Given the description of an element on the screen output the (x, y) to click on. 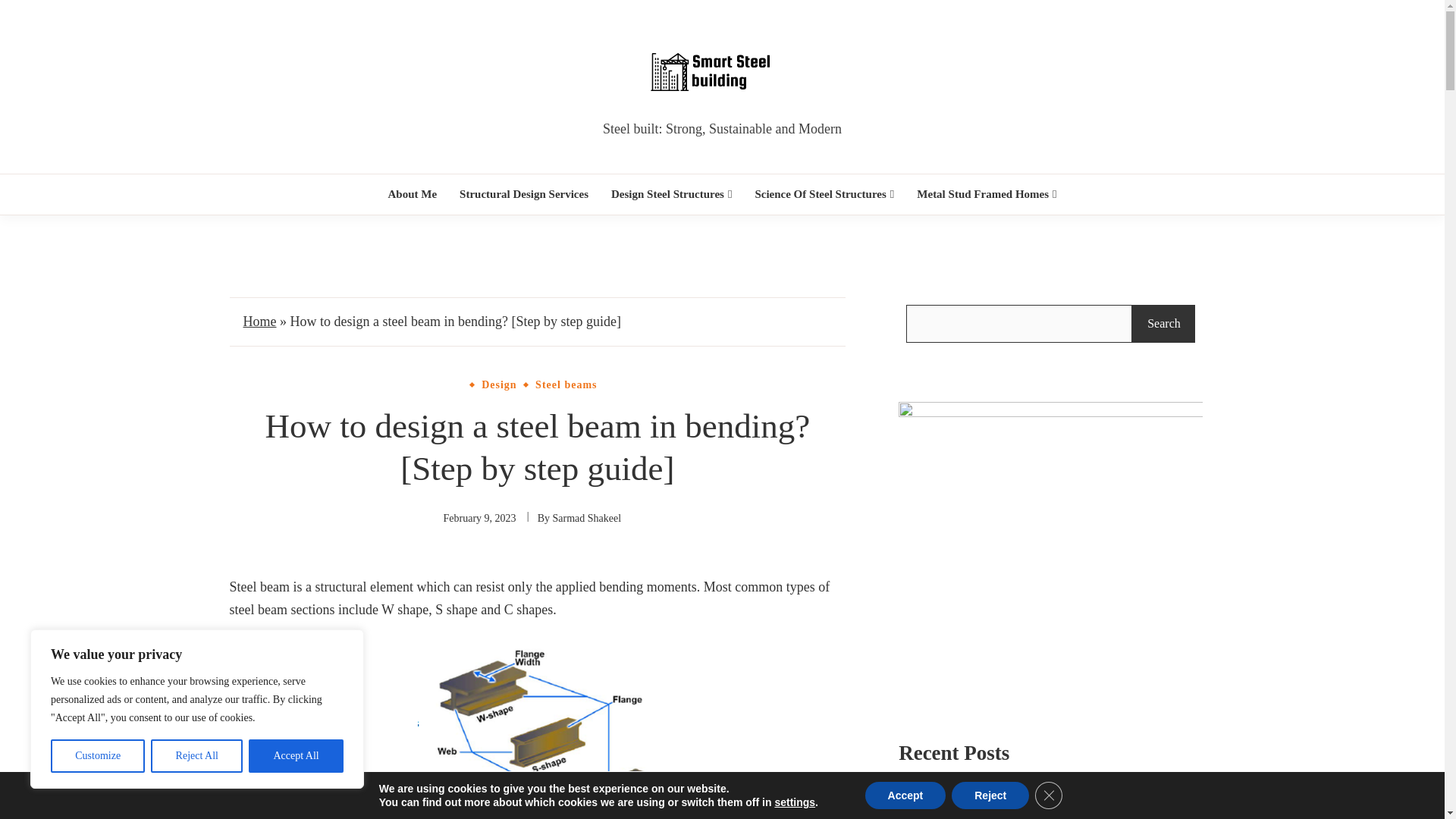
Reject All (197, 756)
Science Of Steel Structures (824, 194)
Customize (97, 756)
Sarmad Shakeel (586, 518)
Design (498, 384)
Accept All (295, 756)
About Me (412, 194)
Steel beams (565, 384)
Design Steel Structures (671, 194)
Home (259, 321)
February 9, 2023 (480, 518)
Metal Stud Framed Homes (985, 194)
Structural Design Services (523, 194)
